Given the description of an element on the screen output the (x, y) to click on. 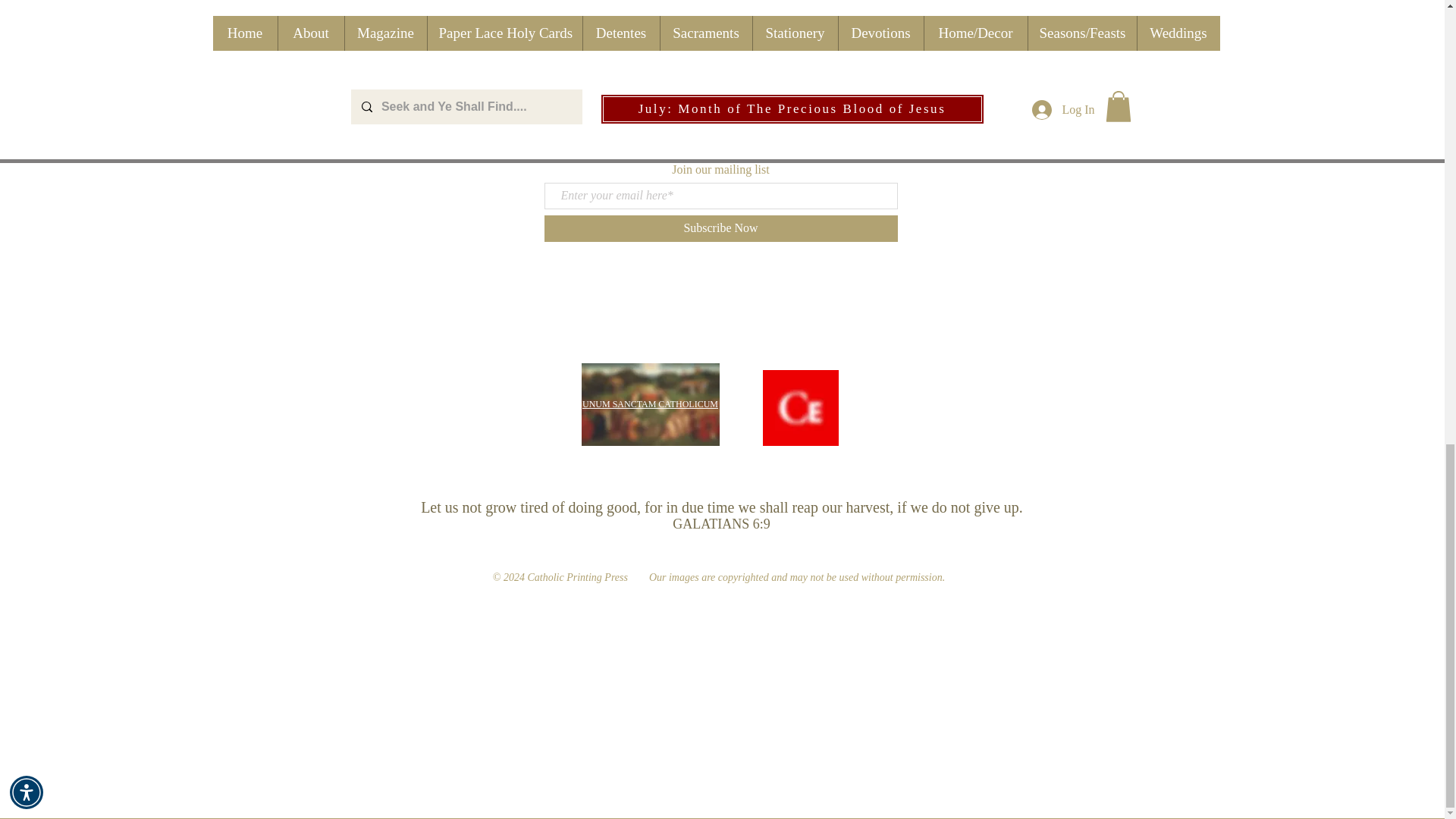
CATHOLIC EXCHANGE BUTTON.webp (800, 407)
